Given the description of an element on the screen output the (x, y) to click on. 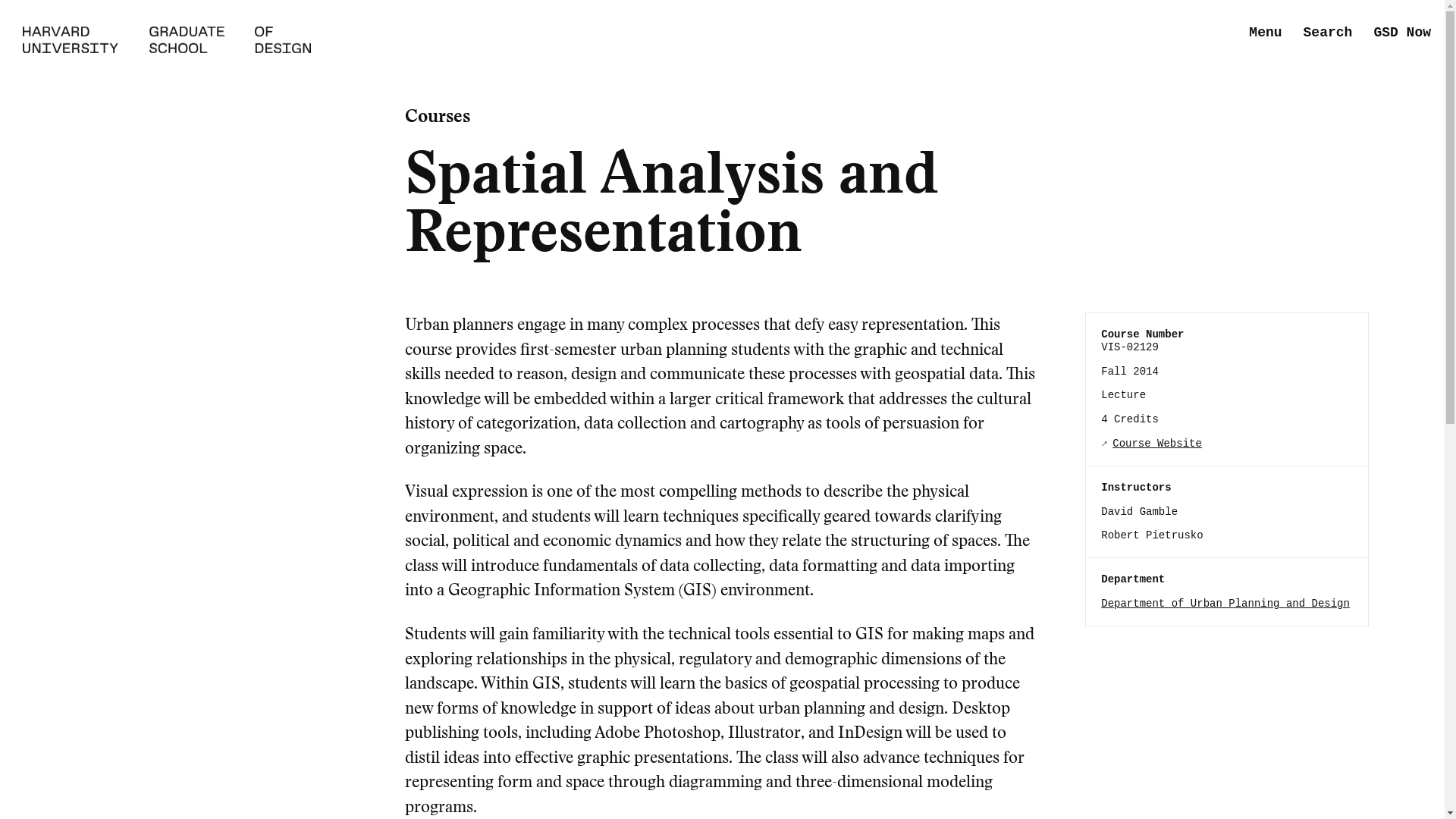
GSD Now (1402, 32)
Menu (1265, 32)
Search (1327, 32)
